Given the description of an element on the screen output the (x, y) to click on. 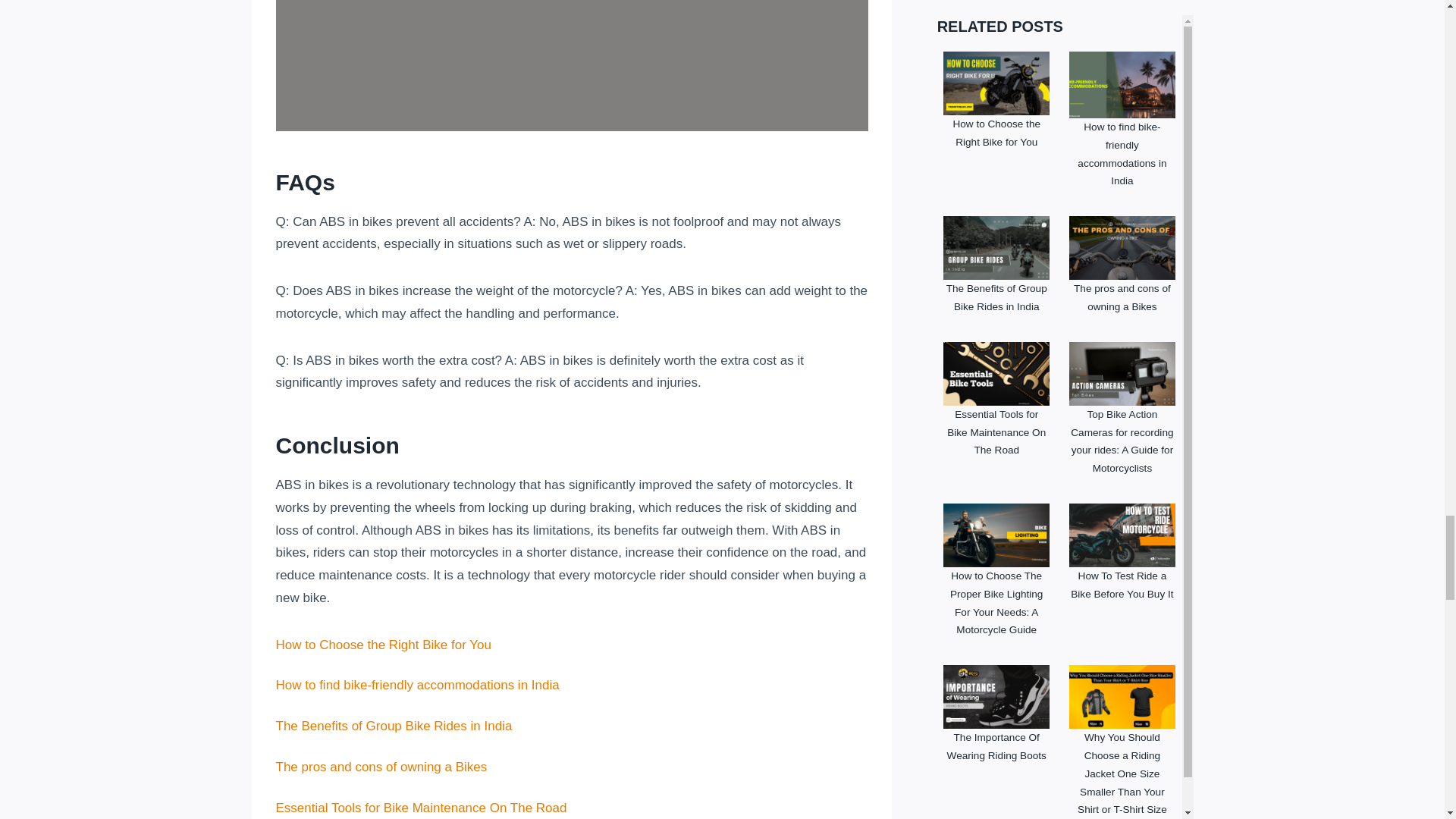
Essential Tools for Bike Maintenance On The Road (421, 807)
How to find bike-friendly accommodations in India (417, 685)
How to Choose the Right Bike for You (384, 644)
The Benefits of Group Bike Rides in India (394, 726)
The pros and cons of owning a Bikes (381, 766)
